Given the description of an element on the screen output the (x, y) to click on. 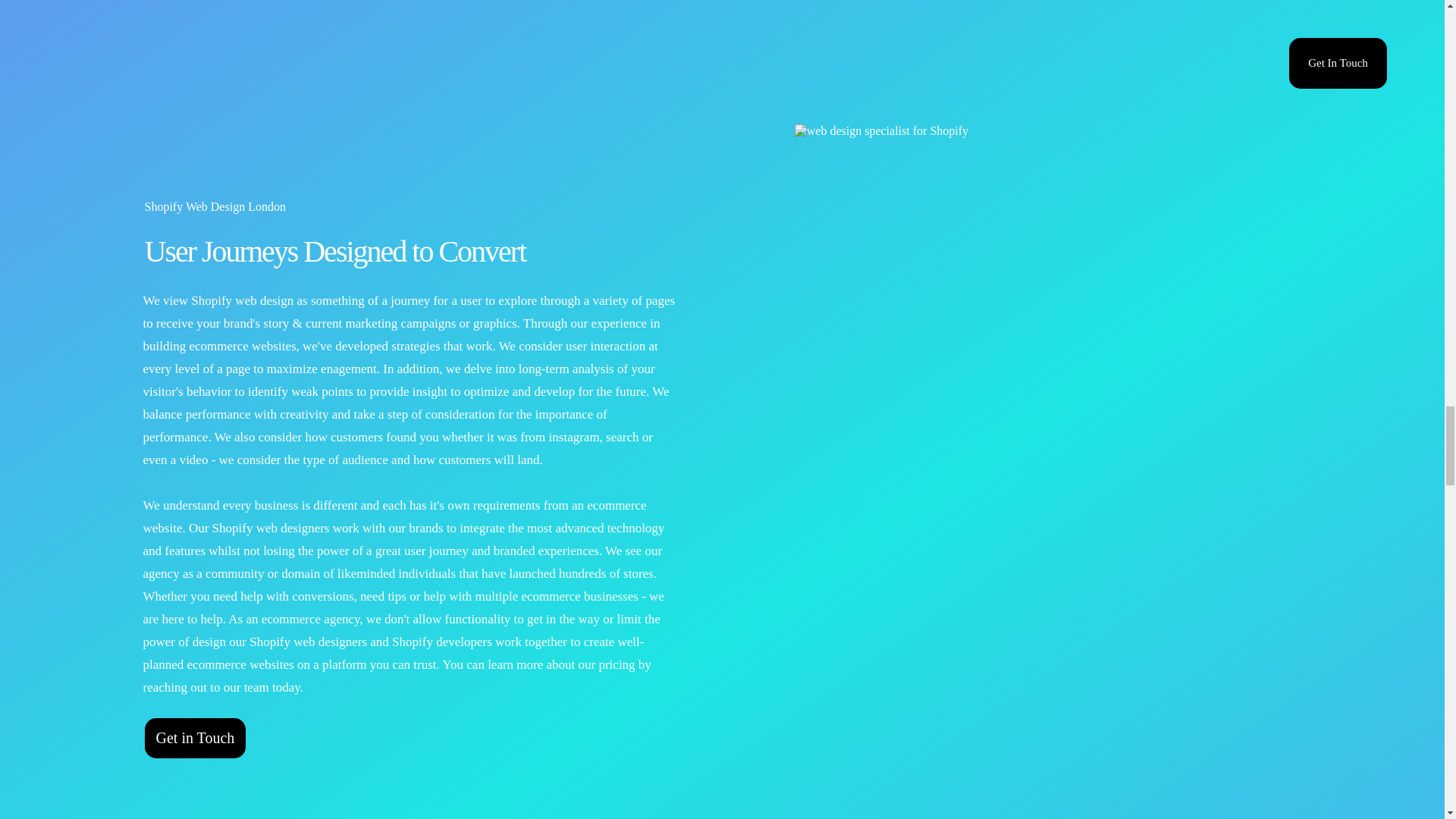
Get in Touch (195, 738)
